Given the description of an element on the screen output the (x, y) to click on. 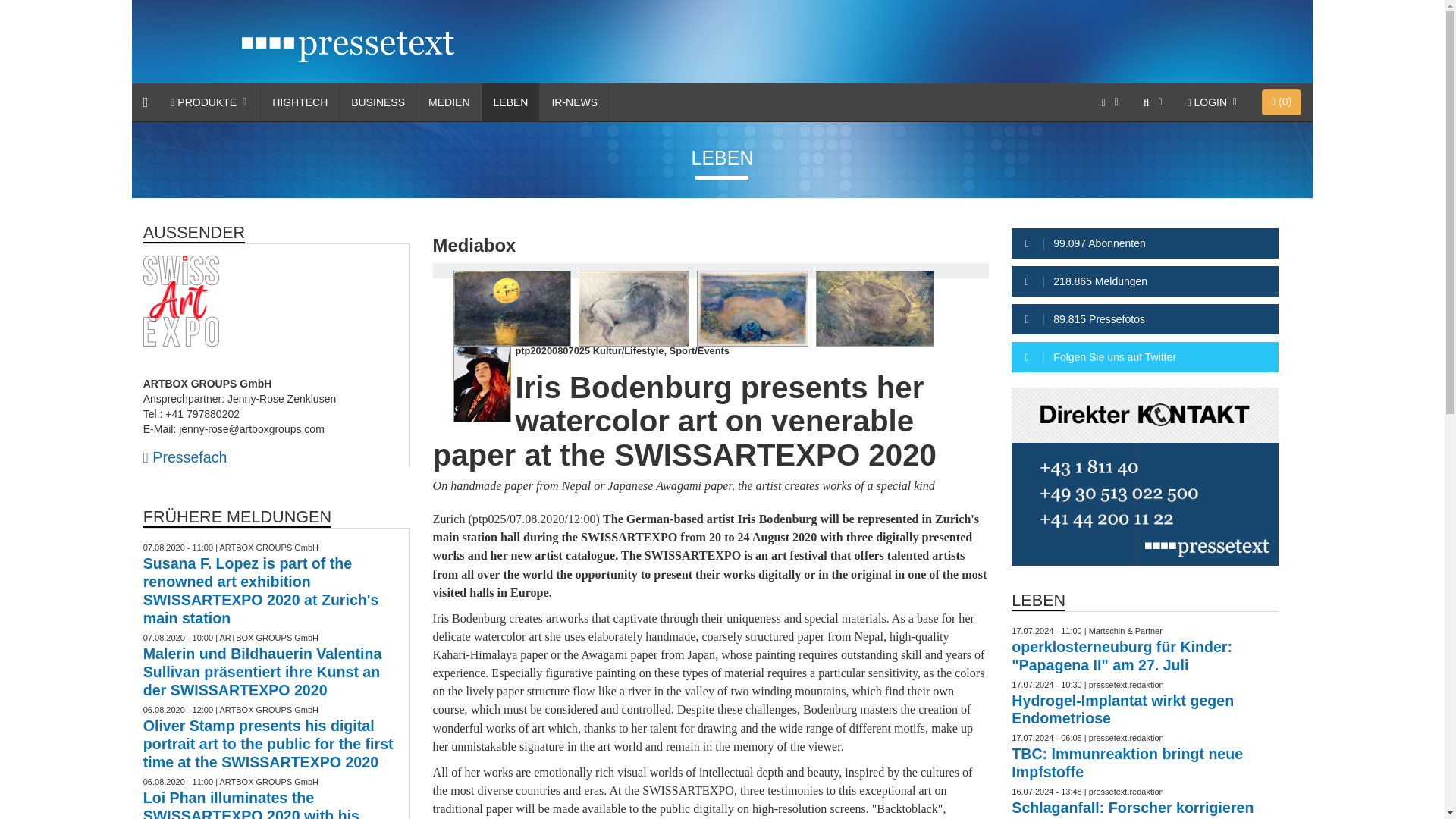
PRODUKTE (209, 102)
Portrait of Iris Bodenburg (482, 384)
Artwork by Iris Bodenburg (512, 308)
